Given the description of an element on the screen output the (x, y) to click on. 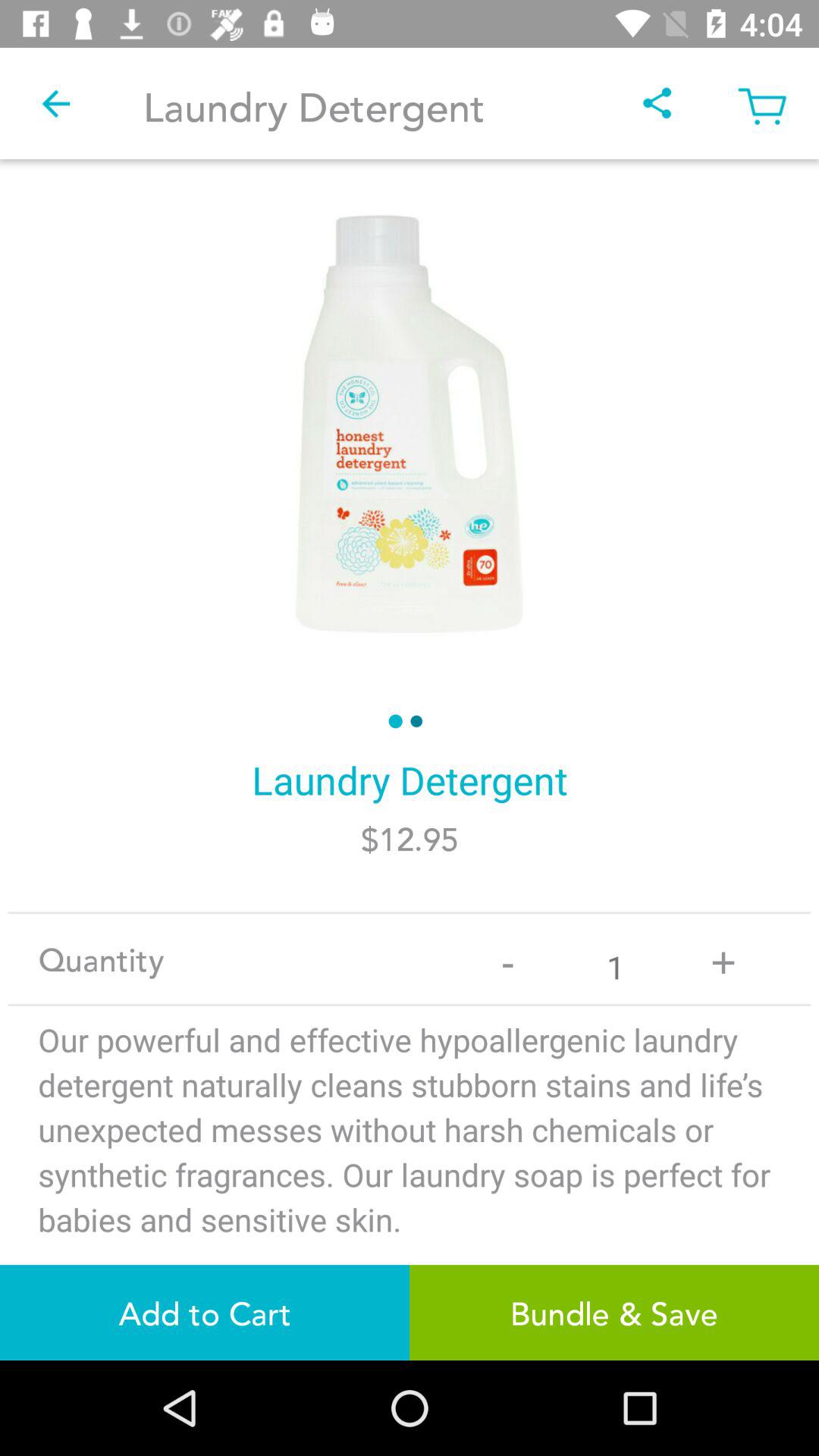
click item next to the add to cart icon (614, 1312)
